Given the description of an element on the screen output the (x, y) to click on. 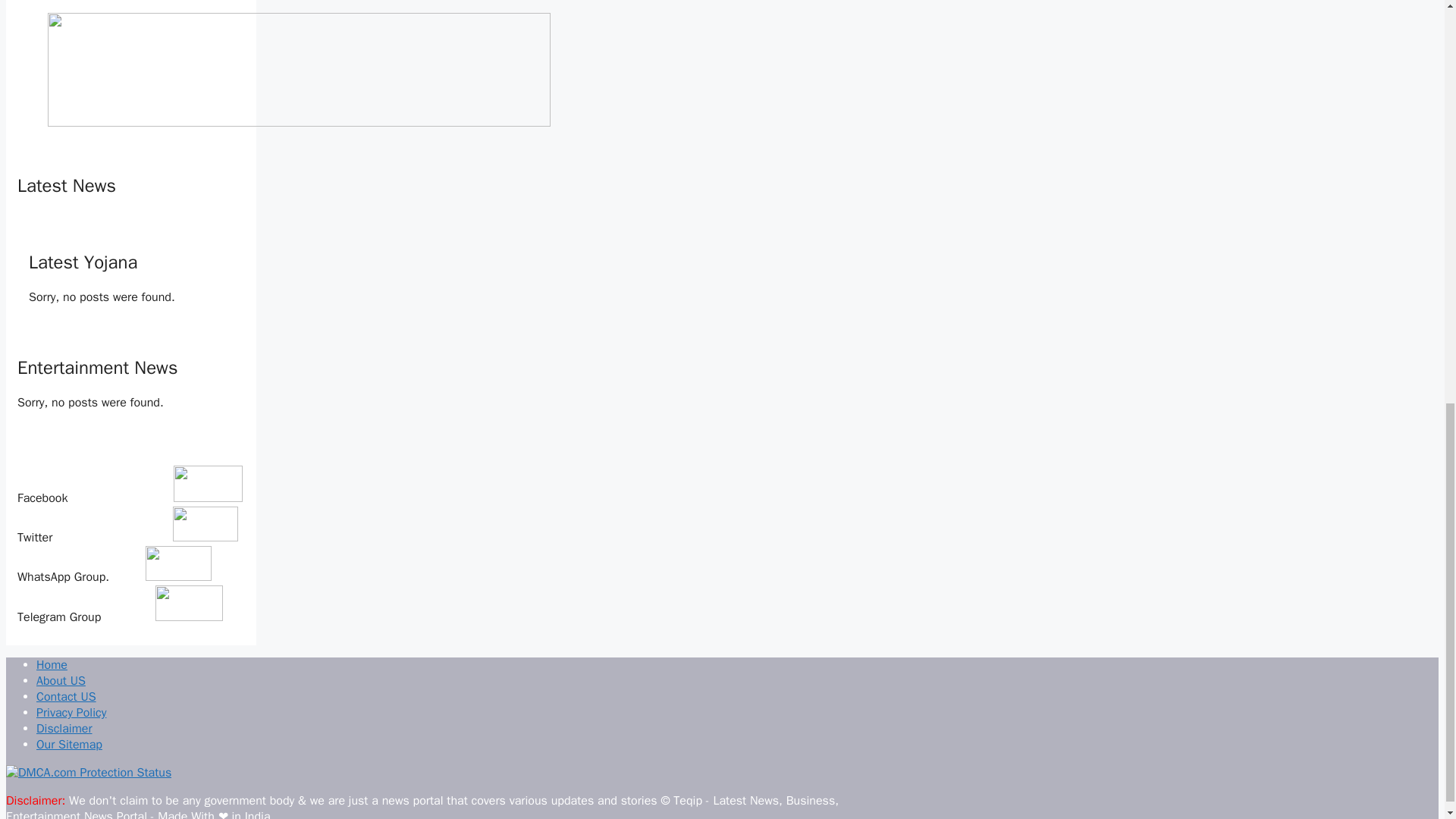
Disclaimer (63, 728)
Privacy Policy (71, 712)
Home (51, 664)
DMCA.com Protection Status (88, 772)
About US (60, 680)
Contact US (66, 696)
Our Sitemap (68, 744)
